Given the description of an element on the screen output the (x, y) to click on. 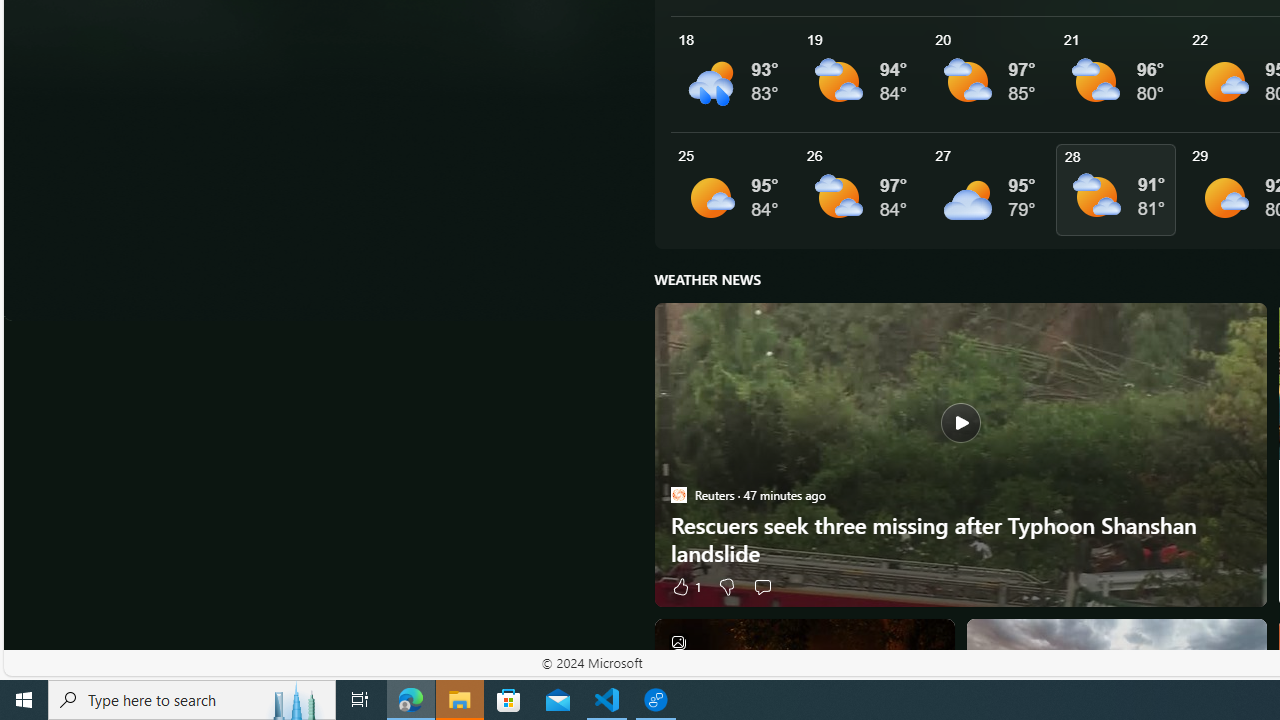
Reuters (678, 494)
1 Like (685, 586)
Rescuers seek three missing after Typhoon Shanshan landslide (959, 539)
